Given the description of an element on the screen output the (x, y) to click on. 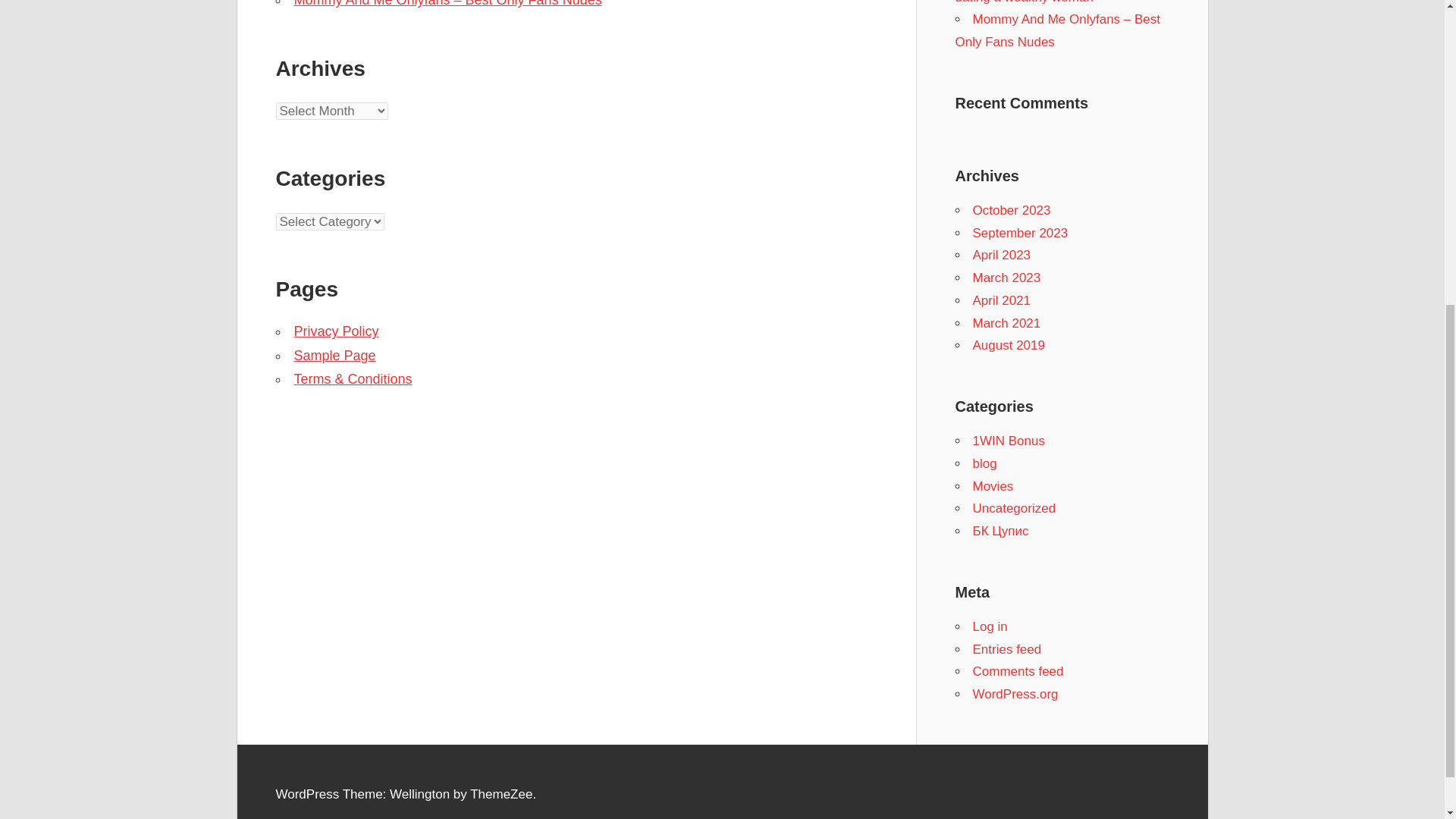
1WIN Bonus (1007, 440)
Uncategorized (1013, 508)
Comments feed (1017, 671)
Log in (989, 626)
Entries feed (1006, 649)
September 2023 (1019, 233)
WordPress.org (1015, 694)
blog (983, 463)
Privacy Policy (336, 331)
April 2021 (1001, 300)
Movies (992, 486)
Enjoy some great benefits of dating a wealthy woman (1045, 2)
Sample Page (334, 355)
August 2019 (1007, 345)
October 2023 (1010, 210)
